Given the description of an element on the screen output the (x, y) to click on. 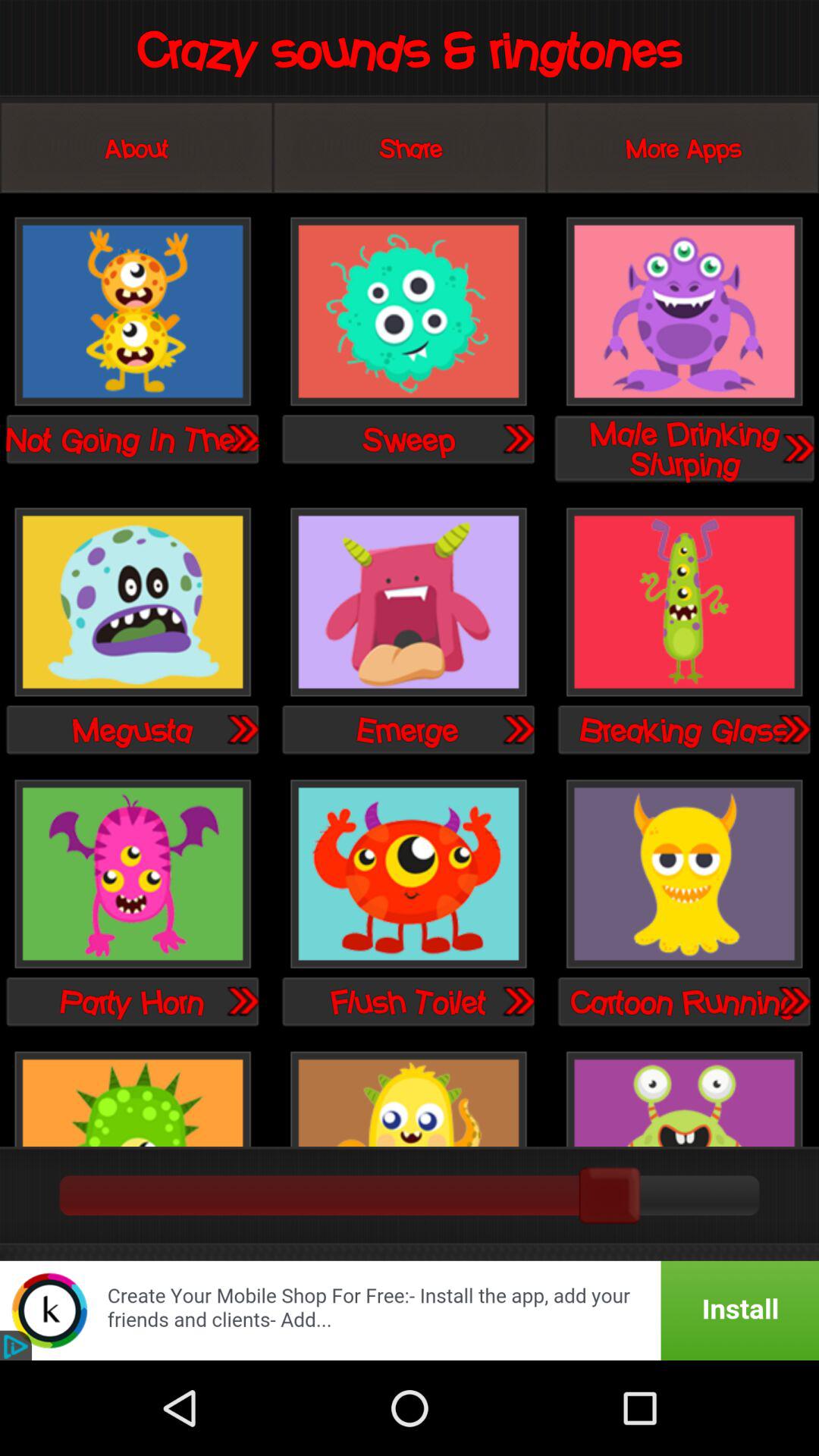
select this sound (408, 1096)
